Given the description of an element on the screen output the (x, y) to click on. 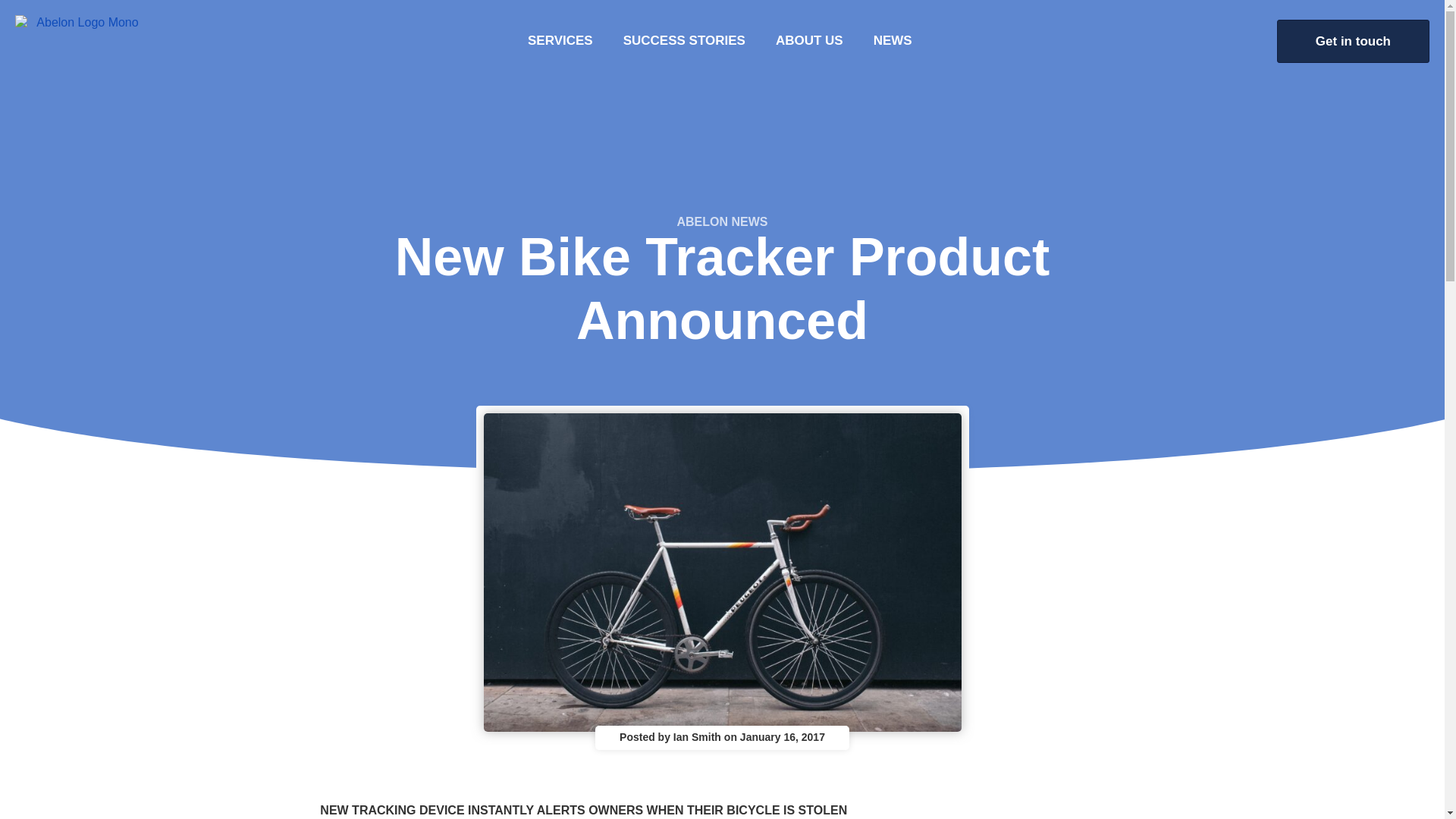
NEWS (893, 40)
SERVICES (560, 40)
ABOUT US (809, 40)
SUCCESS STORIES (684, 40)
